Given the description of an element on the screen output the (x, y) to click on. 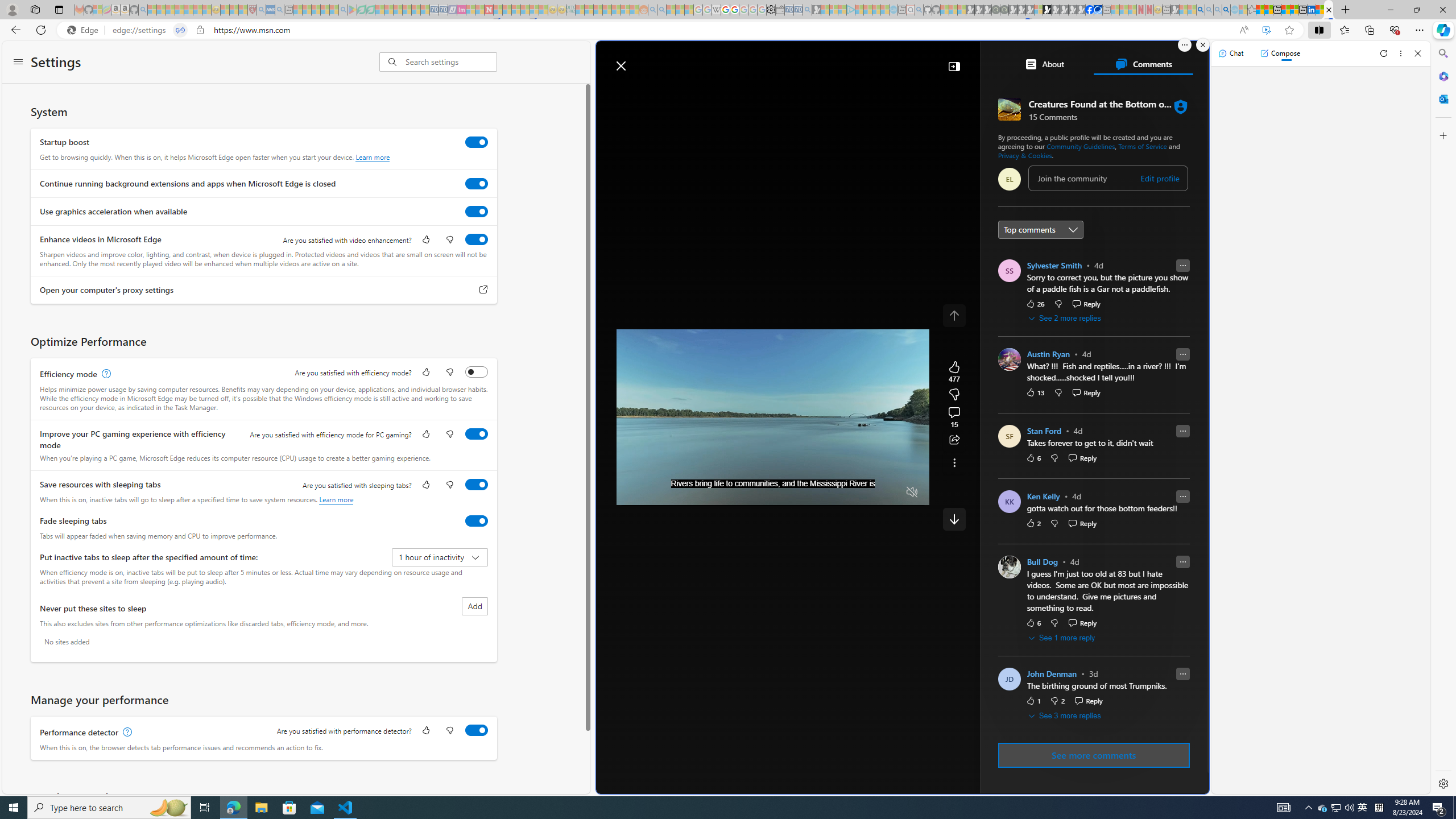
Stan Ford (1043, 431)
Profile Picture (1008, 567)
Quality Settings (845, 492)
View comments 15 Comment (954, 417)
AQI & Health | AirNow.gov (1098, 9)
utah sues federal government - Search - Sleeping (279, 9)
